Given the description of an element on the screen output the (x, y) to click on. 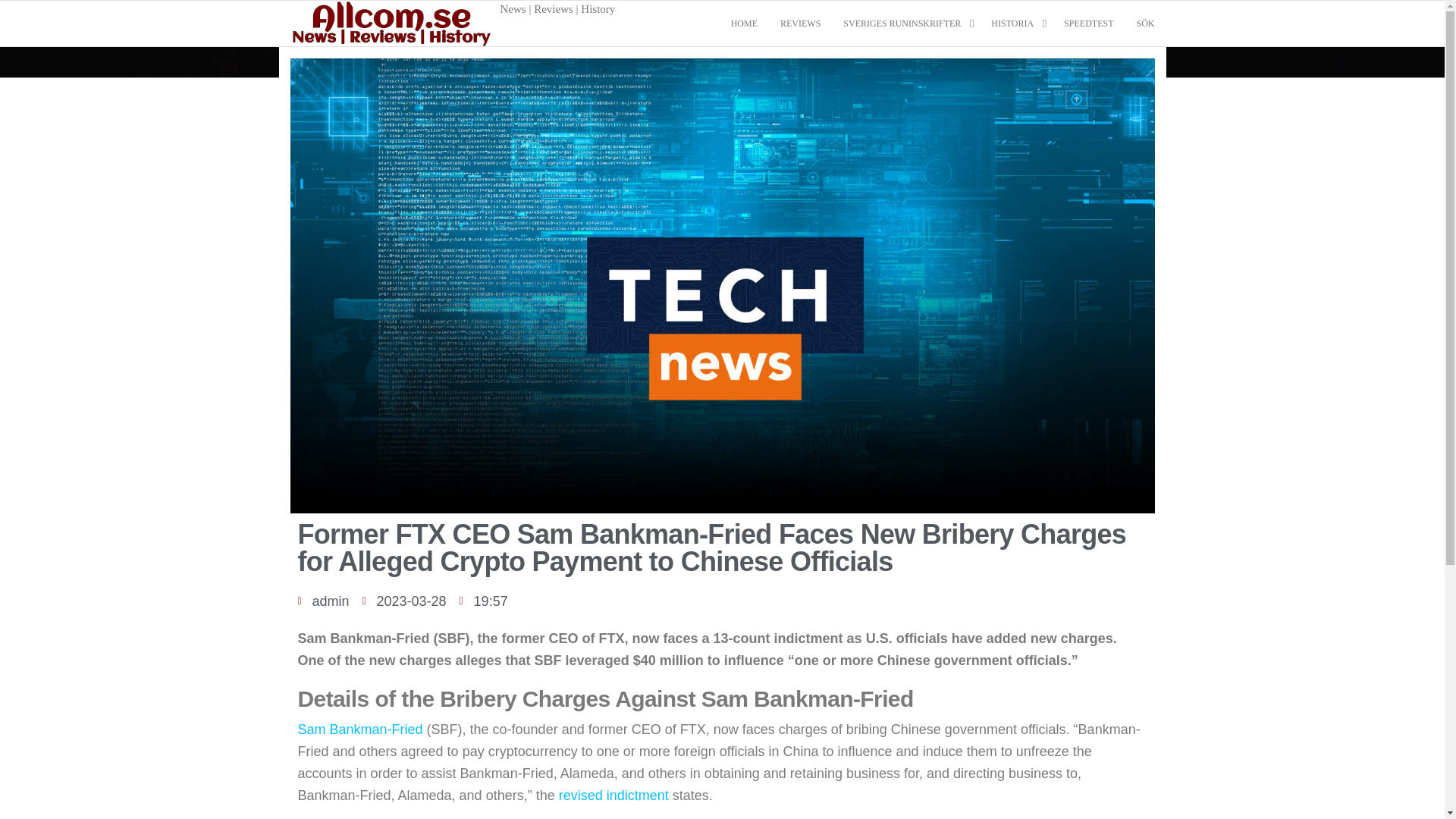
Sveriges Runinskrifter (905, 22)
Reviews (799, 22)
HOME (743, 22)
HISTORIA (1015, 22)
SVERIGES RUNINSKRIFTER (905, 22)
REVIEWS (799, 22)
allcom.se (541, 13)
Home (743, 22)
